Given the description of an element on the screen output the (x, y) to click on. 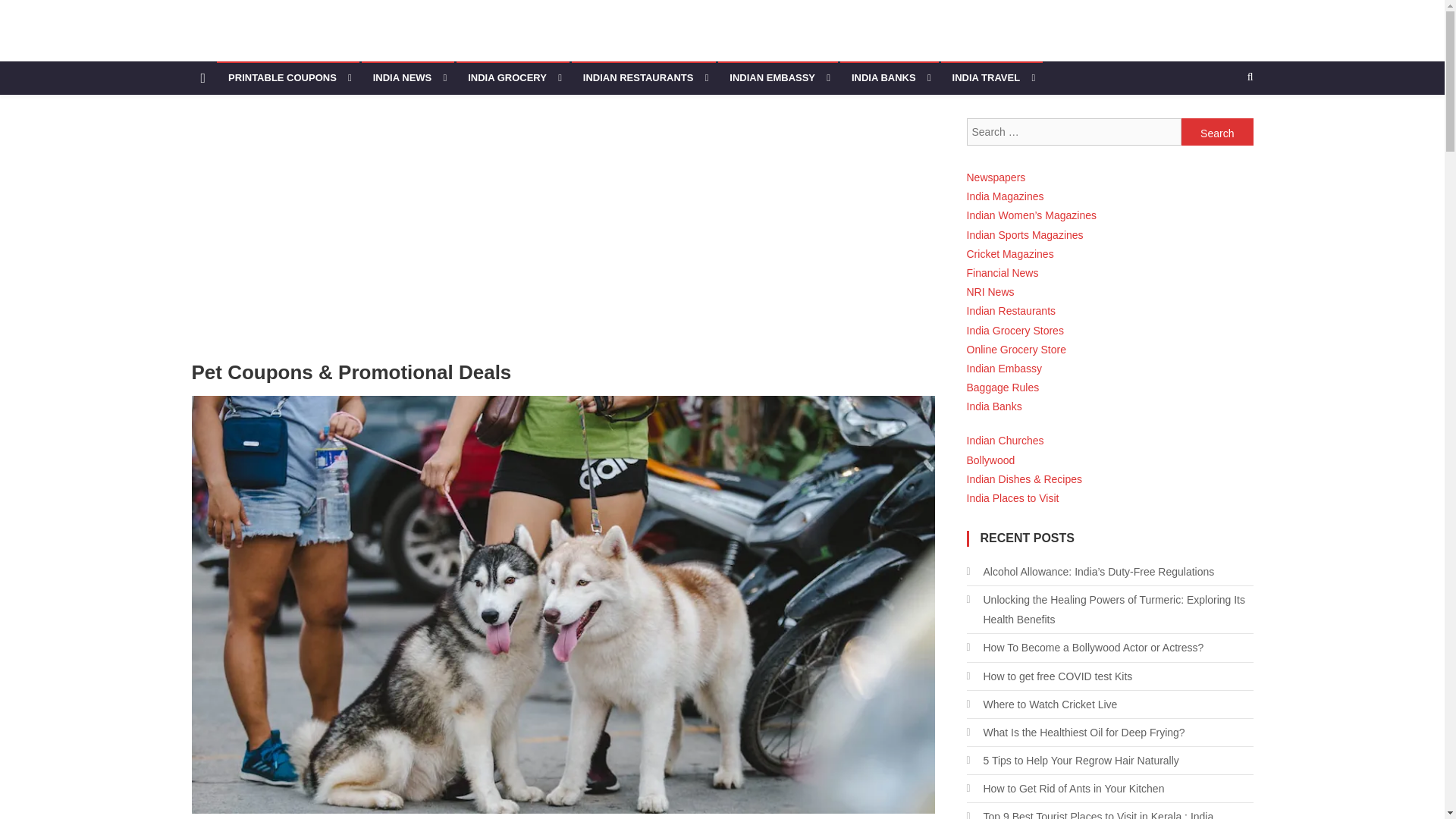
INDIAN EMBASSY (777, 78)
Search (1216, 131)
INDIAN RESTAURANTS (644, 78)
INDIA NEWS (407, 78)
PRINTABLE COUPONS (287, 78)
Search (1216, 131)
Thokalath.com (276, 44)
INDIA GROCERY (513, 78)
